Given the description of an element on the screen output the (x, y) to click on. 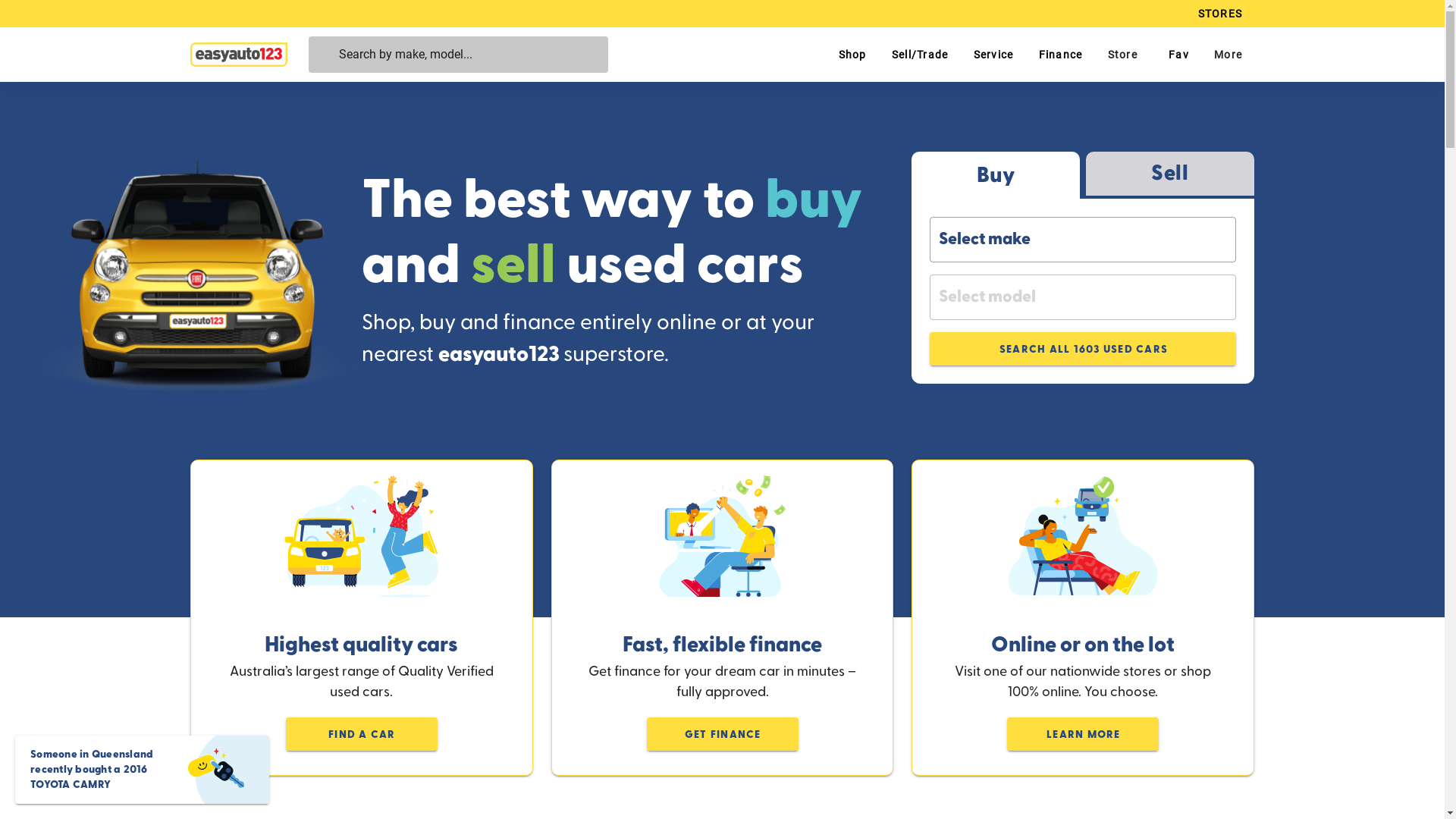
Finance Element type: text (1059, 54)
Store Element type: text (1121, 54)
Sell/Trade Element type: text (919, 54)
Fav Element type: text (1175, 54)
Shop Element type: text (851, 54)
GET FINANCE Element type: text (721, 733)
SEARCH ALL 1603 USED CARS Element type: text (1082, 348)
More Element type: text (1227, 54)
LEARN MORE Element type: text (1082, 733)
FIND A CAR Element type: text (361, 733)
STORES Element type: text (1219, 13)
Service Element type: text (992, 54)
